Given the description of an element on the screen output the (x, y) to click on. 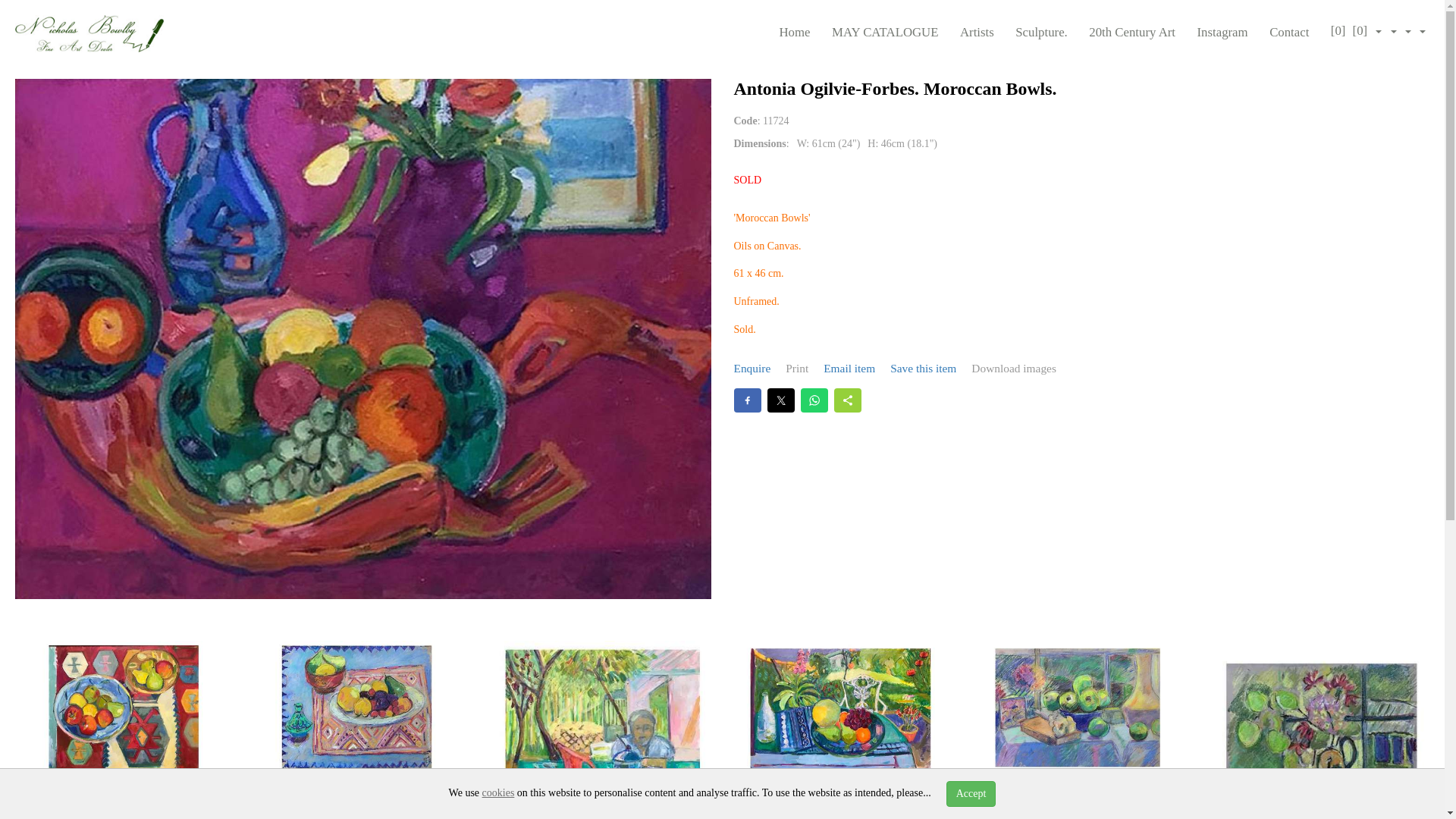
Contact (1288, 32)
Nicholas Bowlby Fine Art (88, 33)
20th Century Art (1131, 32)
Print (797, 368)
Email item (849, 368)
Sculpture. (1040, 32)
Instagram (1221, 32)
Download images (1014, 368)
Home (793, 32)
Artists (976, 32)
MAY CATALOGUE (885, 32)
Enquire (752, 368)
Save this item (922, 368)
